Given the description of an element on the screen output the (x, y) to click on. 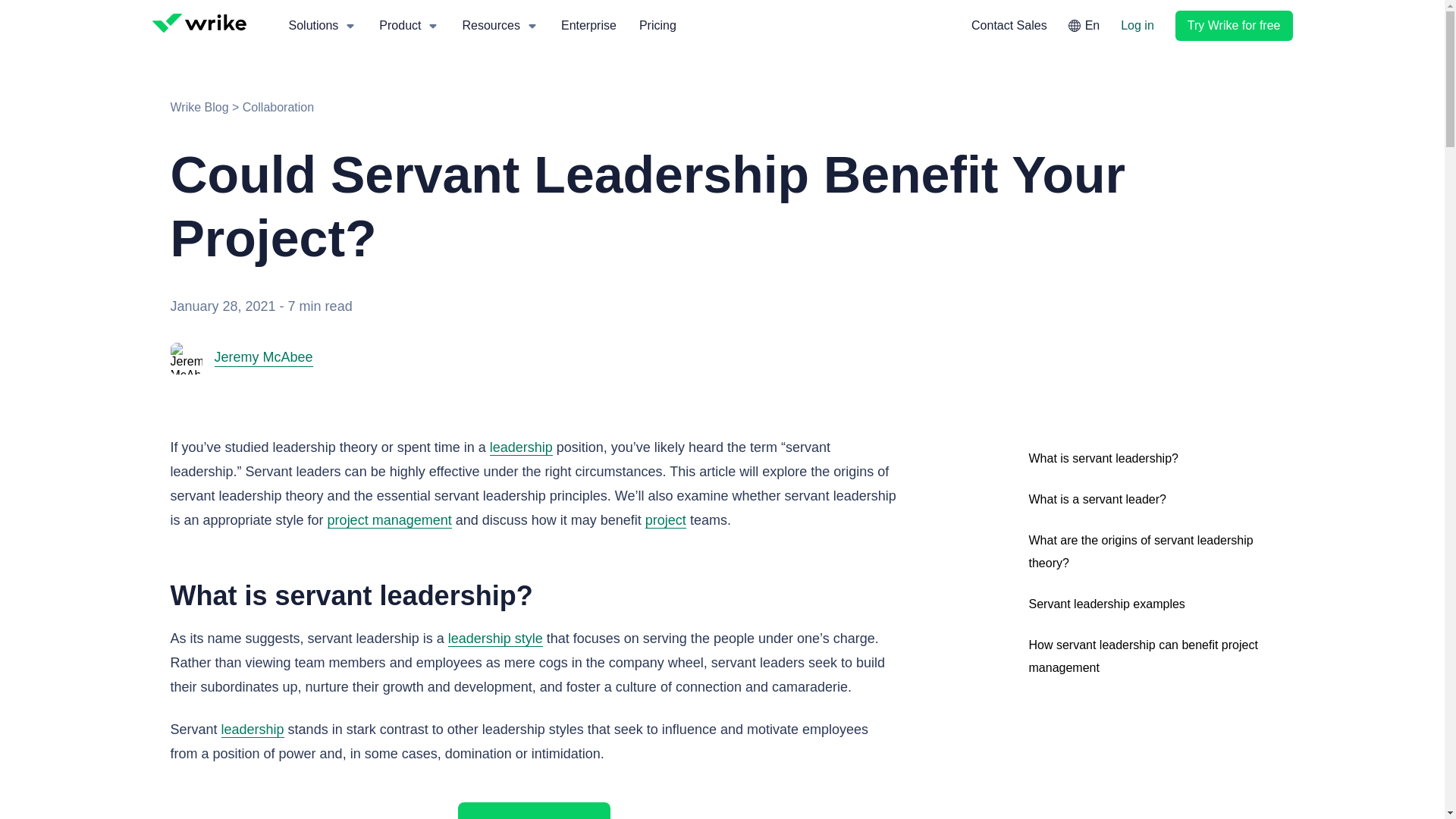
Solutions (323, 25)
Product (409, 25)
Wrike (199, 24)
